Given the description of an element on the screen output the (x, y) to click on. 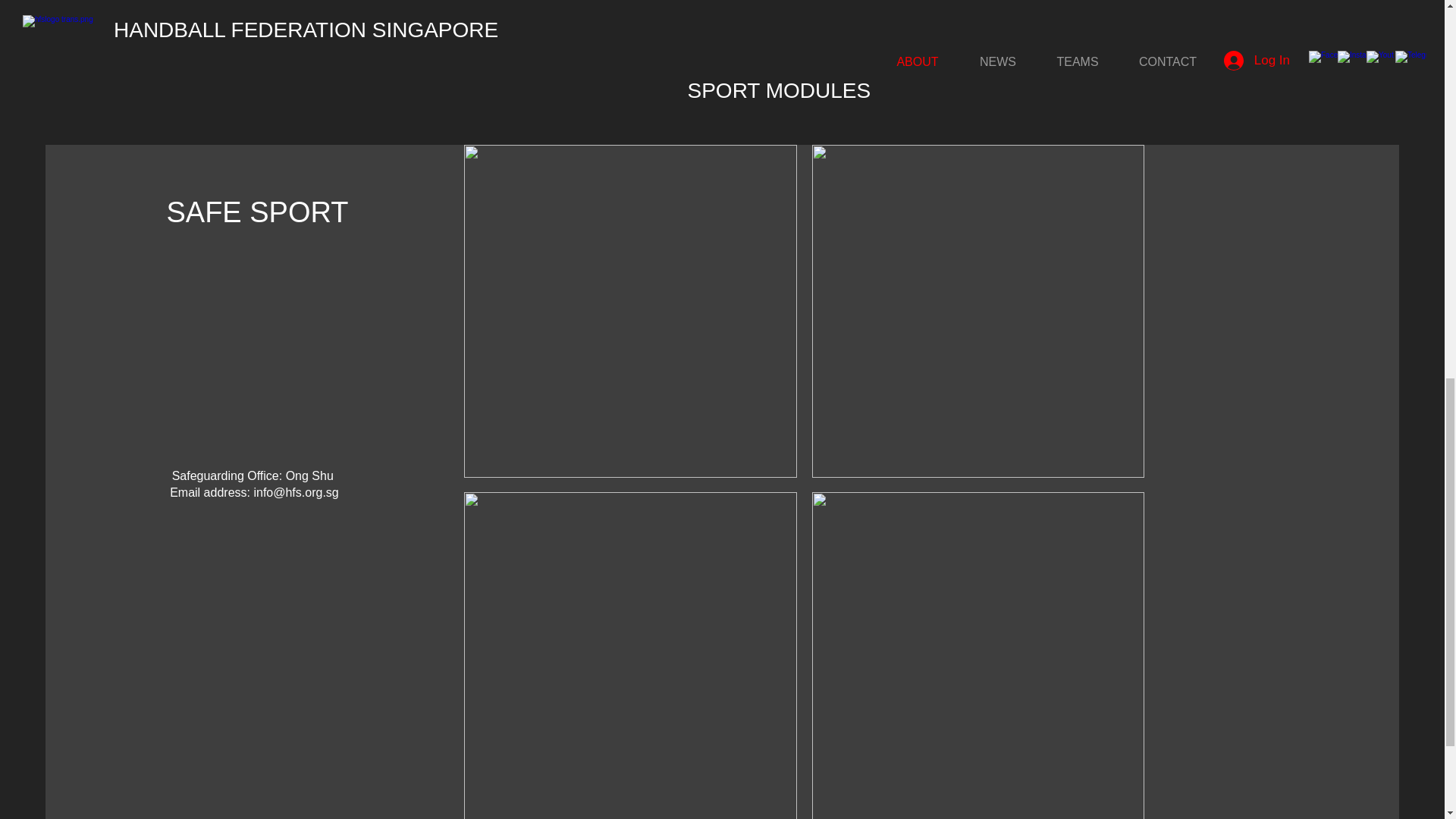
User Guides for Safe Sport Modules.zip (1054, 75)
Unified Code Infographic Final.pdf (1054, 18)
